Given the description of an element on the screen output the (x, y) to click on. 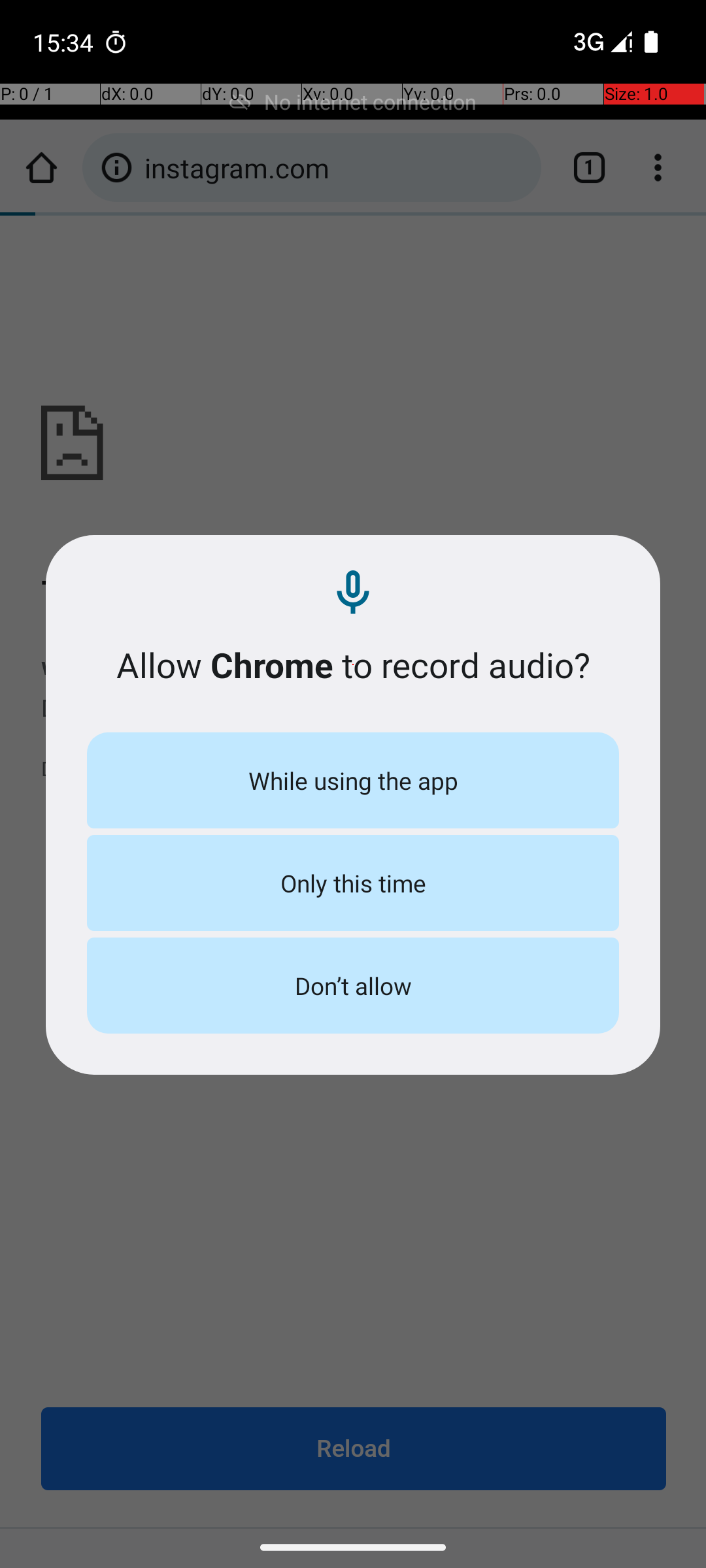
Allow Chrome to record audio? Element type: android.widget.TextView (352, 664)
While using the app Element type: android.widget.Button (352, 780)
Only this time Element type: android.widget.Button (352, 882)
